Given the description of an element on the screen output the (x, y) to click on. 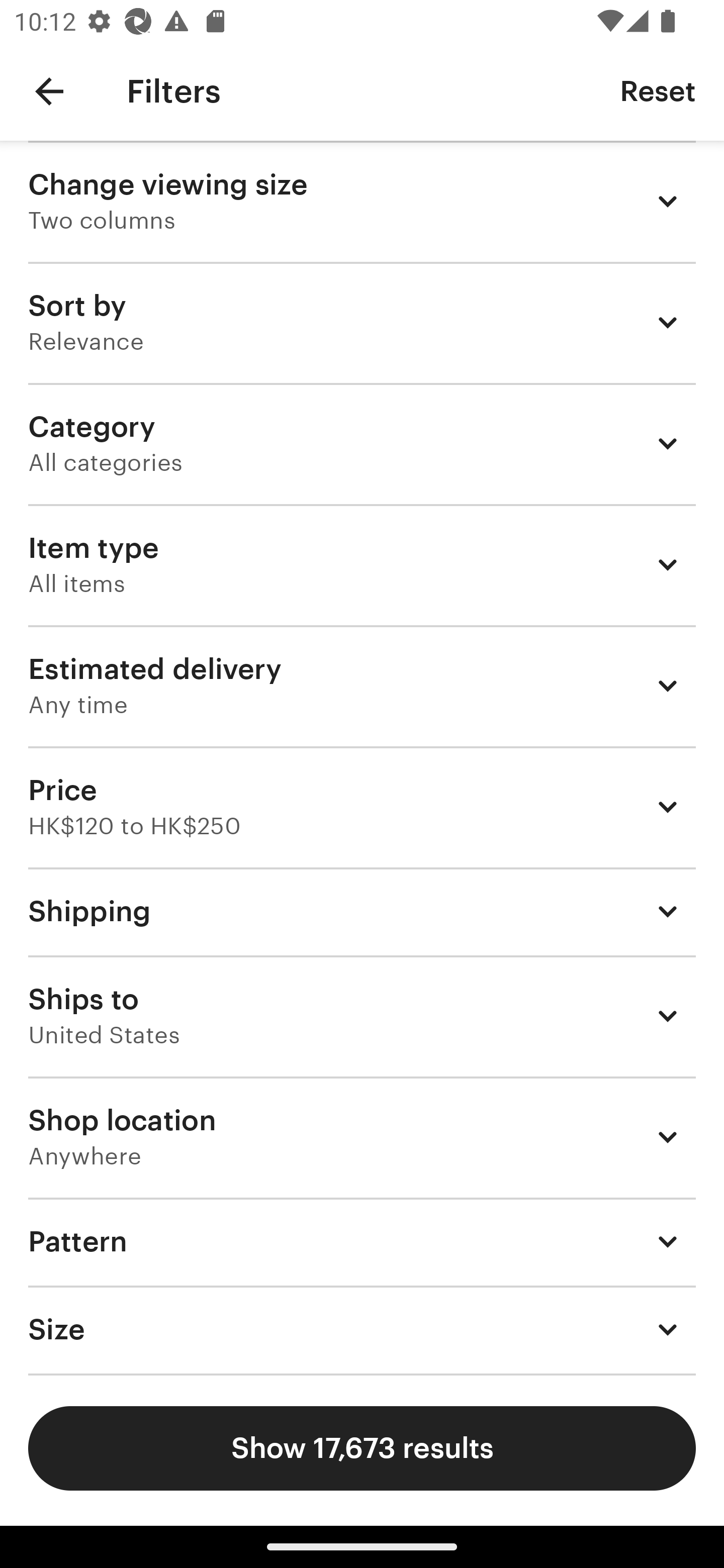
Navigate up (49, 91)
Reset (657, 90)
Change viewing size Two columns (362, 201)
Sort by Relevance (362, 321)
Category All categories (362, 442)
Item type All items (362, 564)
Estimated delivery Any time (362, 685)
Price HK$120 to HK$250 (362, 806)
Shipping (362, 910)
Ships to United States (362, 1015)
Shop location Anywhere (362, 1137)
Pattern (362, 1241)
Size (362, 1329)
Show 17,673 results Show results (361, 1448)
